Given the description of an element on the screen output the (x, y) to click on. 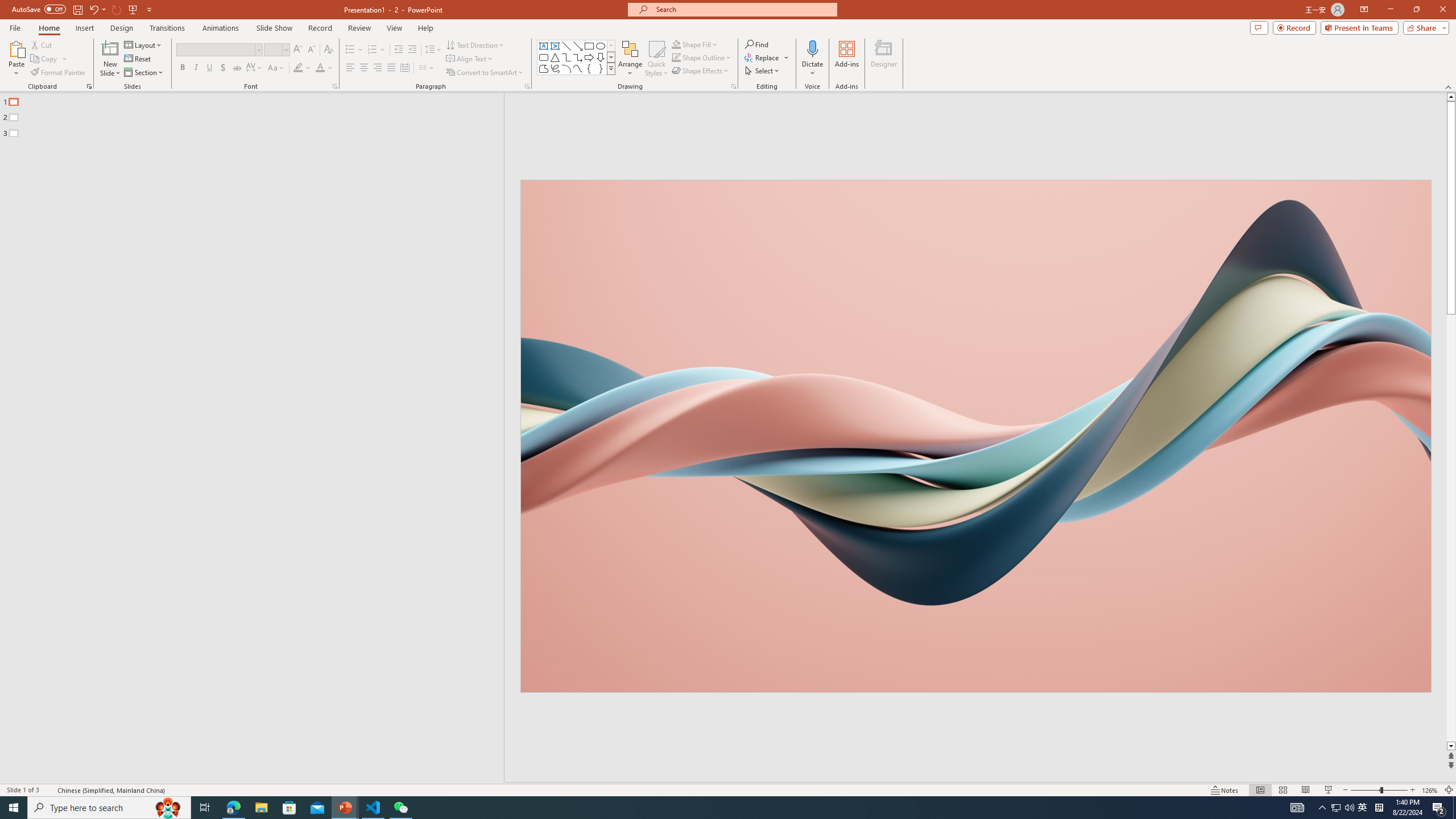
Spell Check  (49, 790)
